Given the description of an element on the screen output the (x, y) to click on. 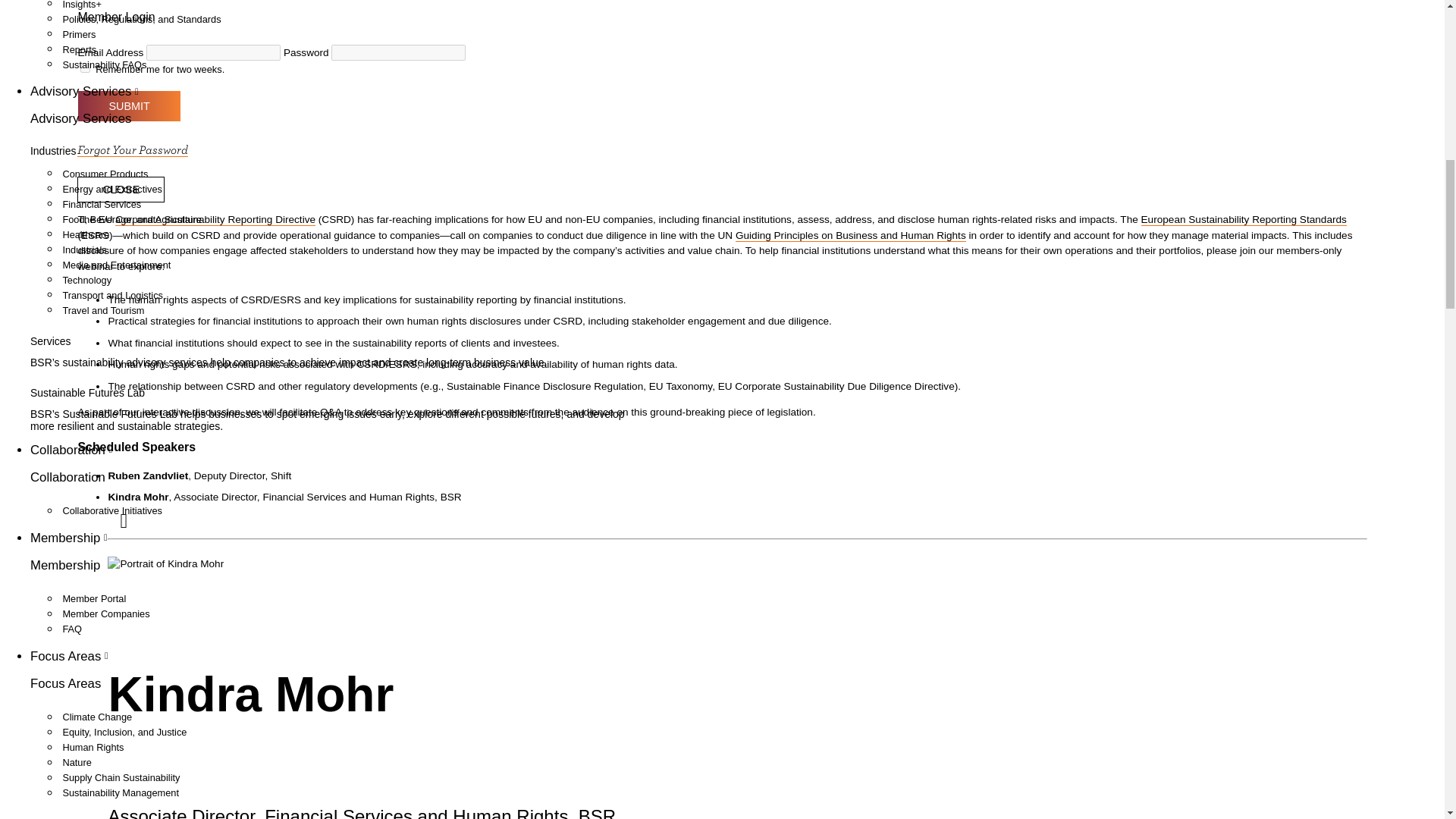
1 (85, 67)
Submit (128, 106)
